Given the description of an element on the screen output the (x, y) to click on. 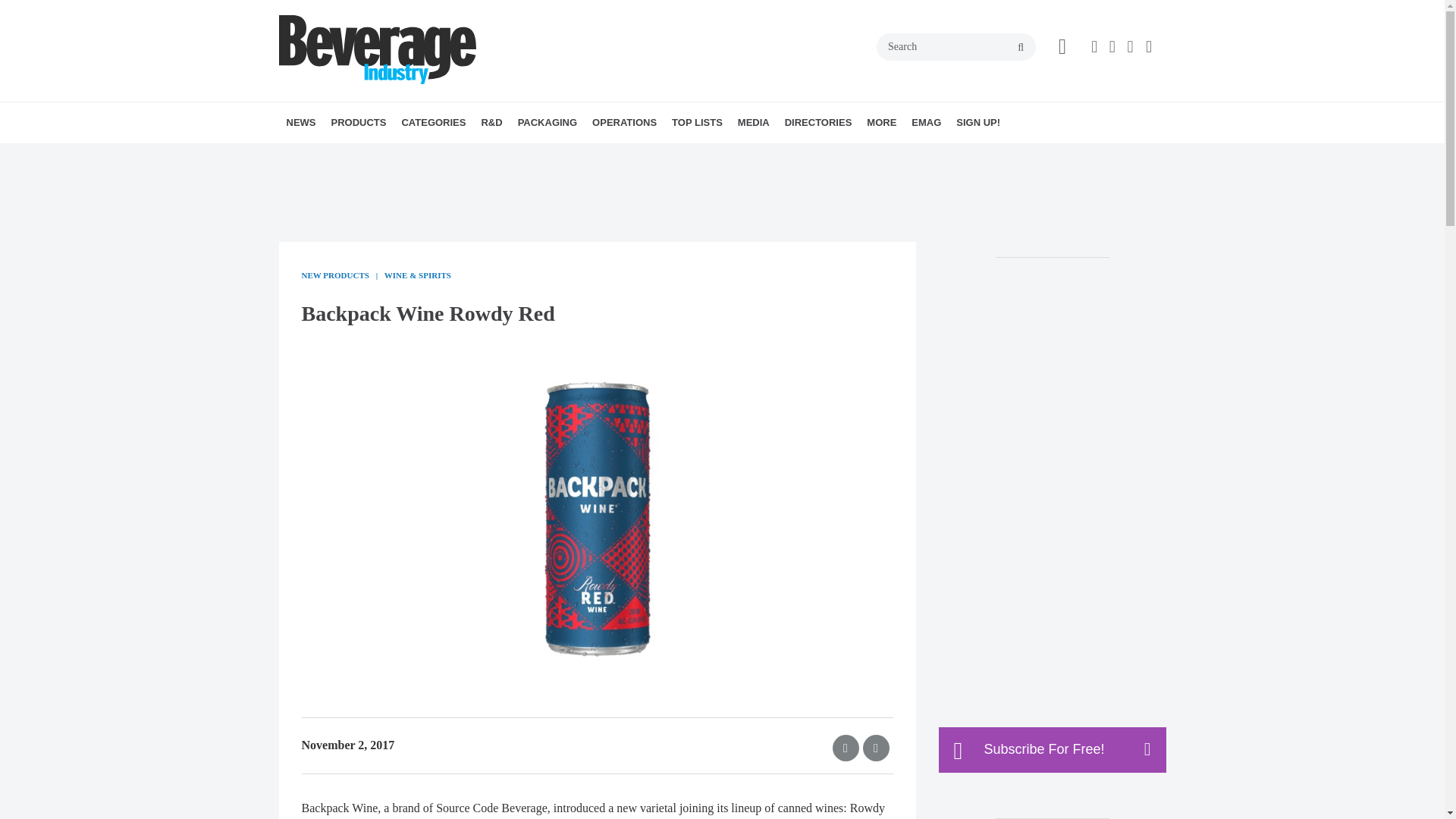
SUPPLIER NEWS (380, 155)
search (1020, 47)
PLANT-BASED BEVERAGES (522, 155)
CARBONATED SOFT DRINKS (512, 155)
NEW PRODUCTS (417, 155)
ALTERNATIVE DRINKS (488, 155)
READER'S CHOICE POLL (424, 155)
SPORTS DRINKS (525, 155)
CANNABIS BEVERAGES (507, 155)
NEW PACKAGES (605, 155)
